Given the description of an element on the screen output the (x, y) to click on. 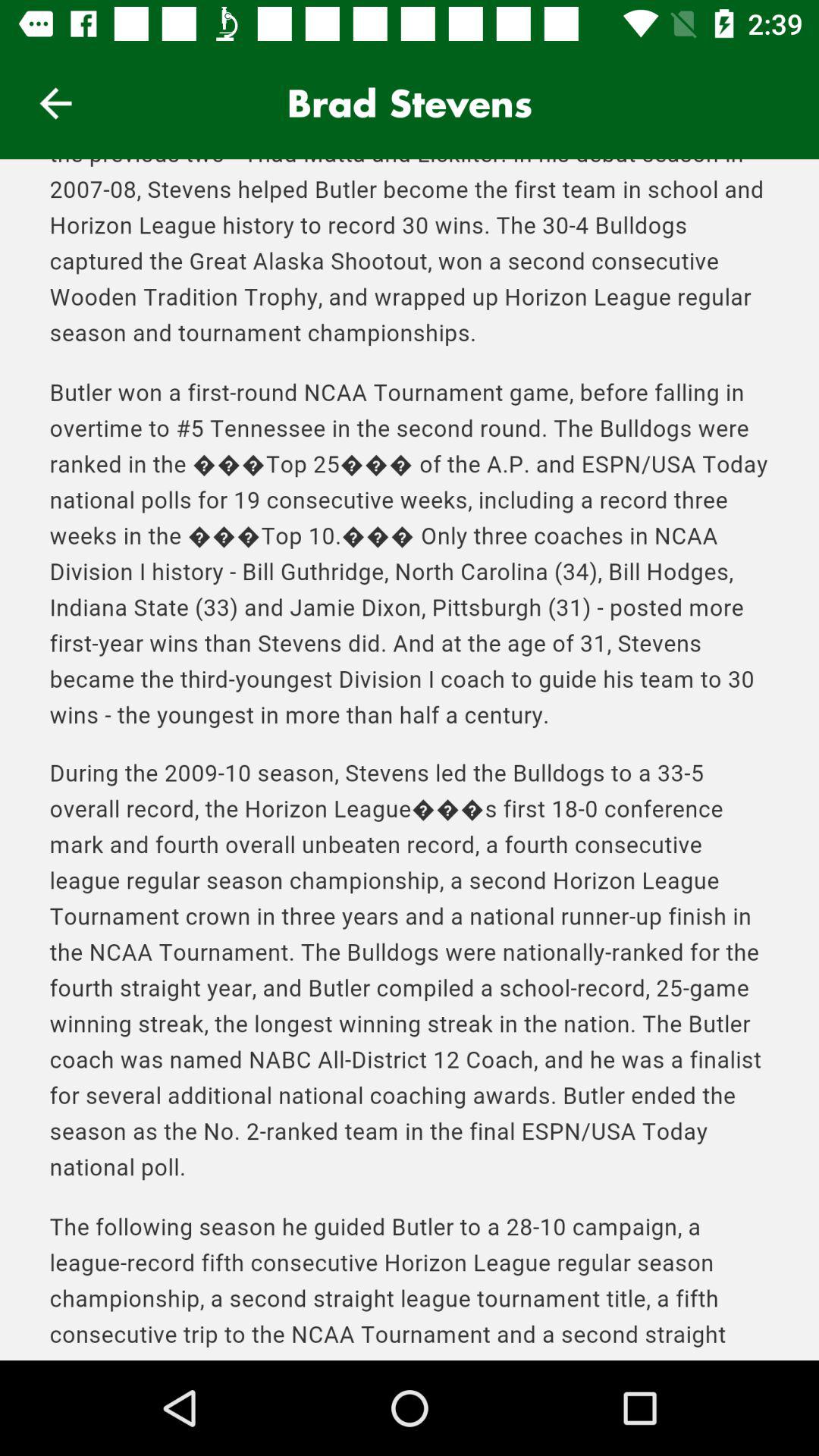
about brad stevens page (409, 759)
